Given the description of an element on the screen output the (x, y) to click on. 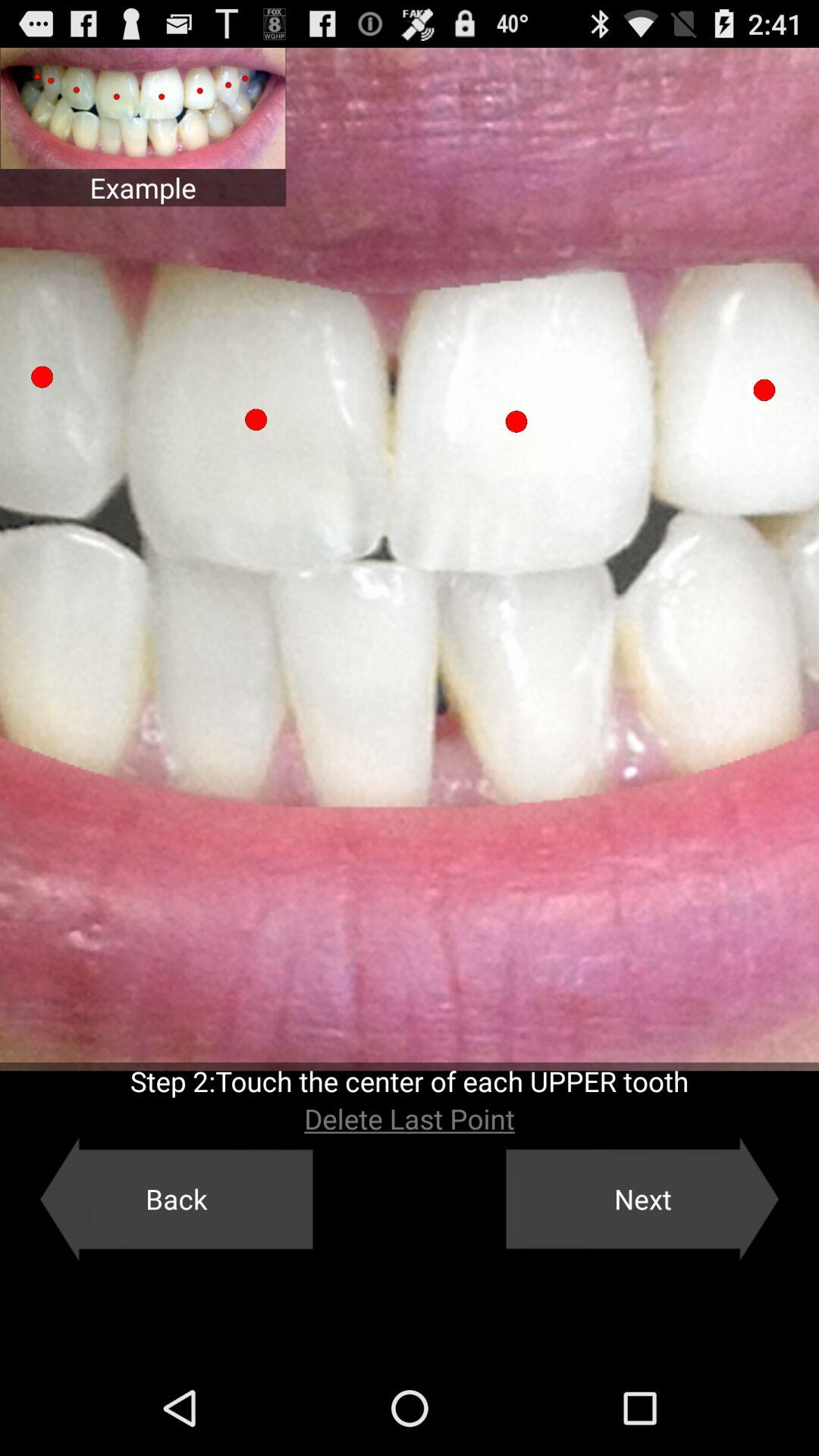
tap the next item (642, 1198)
